Given the description of an element on the screen output the (x, y) to click on. 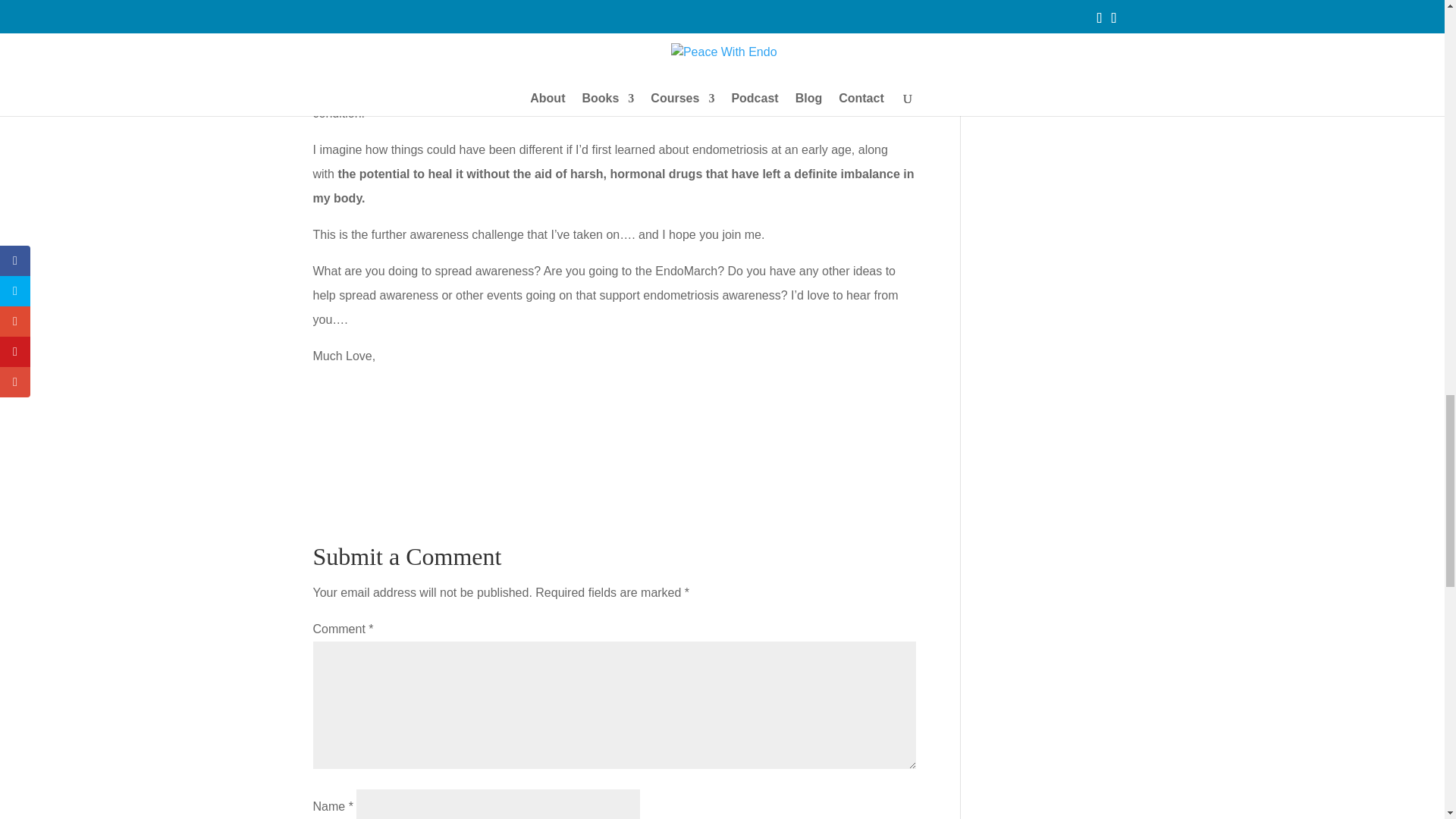
ENDo With Empowerment (394, 7)
